Given the description of an element on the screen output the (x, y) to click on. 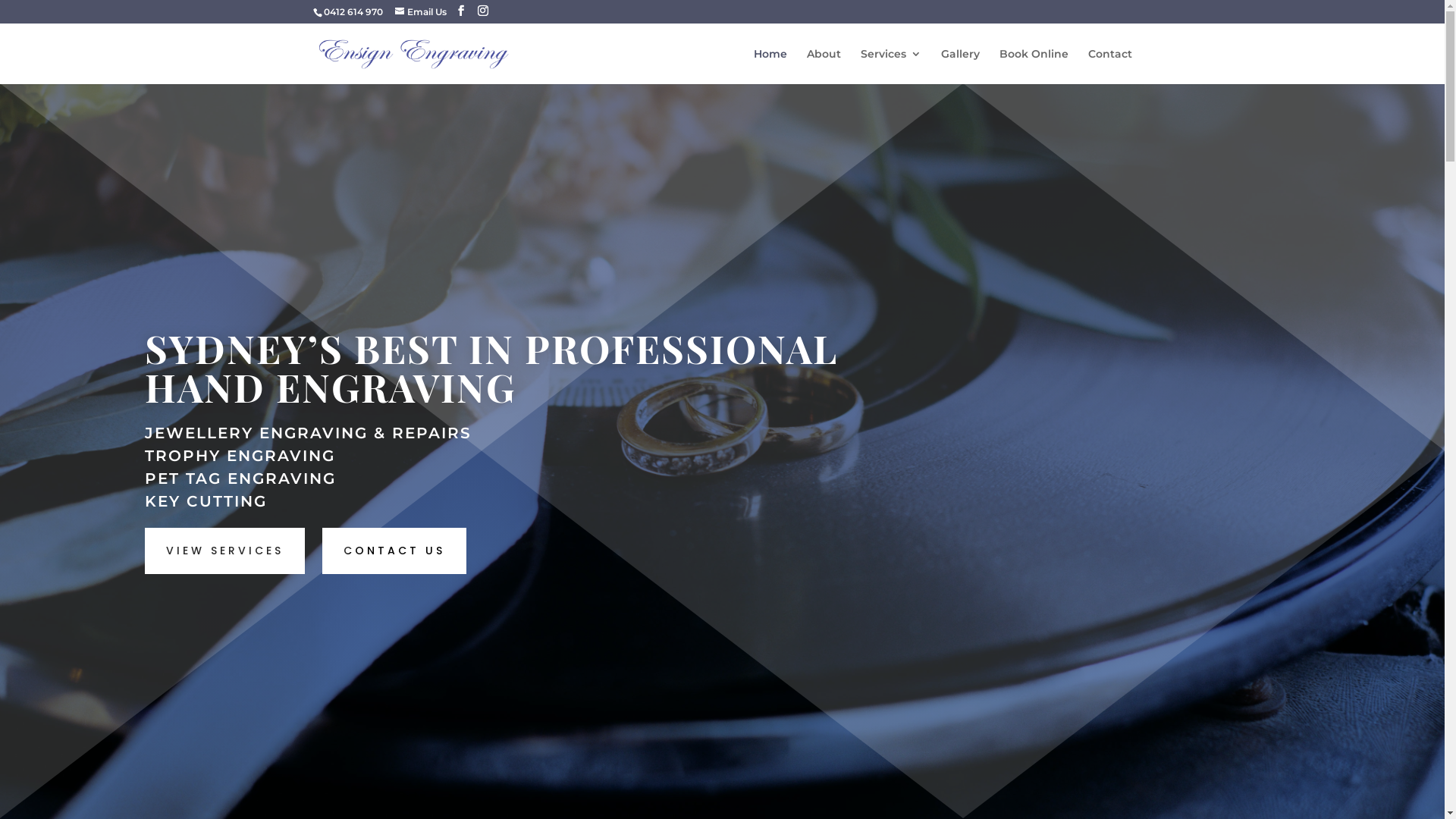
VIEW SERVICES Element type: text (224, 550)
Gallery Element type: text (959, 66)
Home Element type: text (770, 66)
About Element type: text (823, 66)
Services Element type: text (889, 66)
Book Online Element type: text (1033, 66)
Contact Element type: text (1109, 66)
Email Us Element type: text (419, 11)
CONTACT US Element type: text (393, 550)
